Given the description of an element on the screen output the (x, y) to click on. 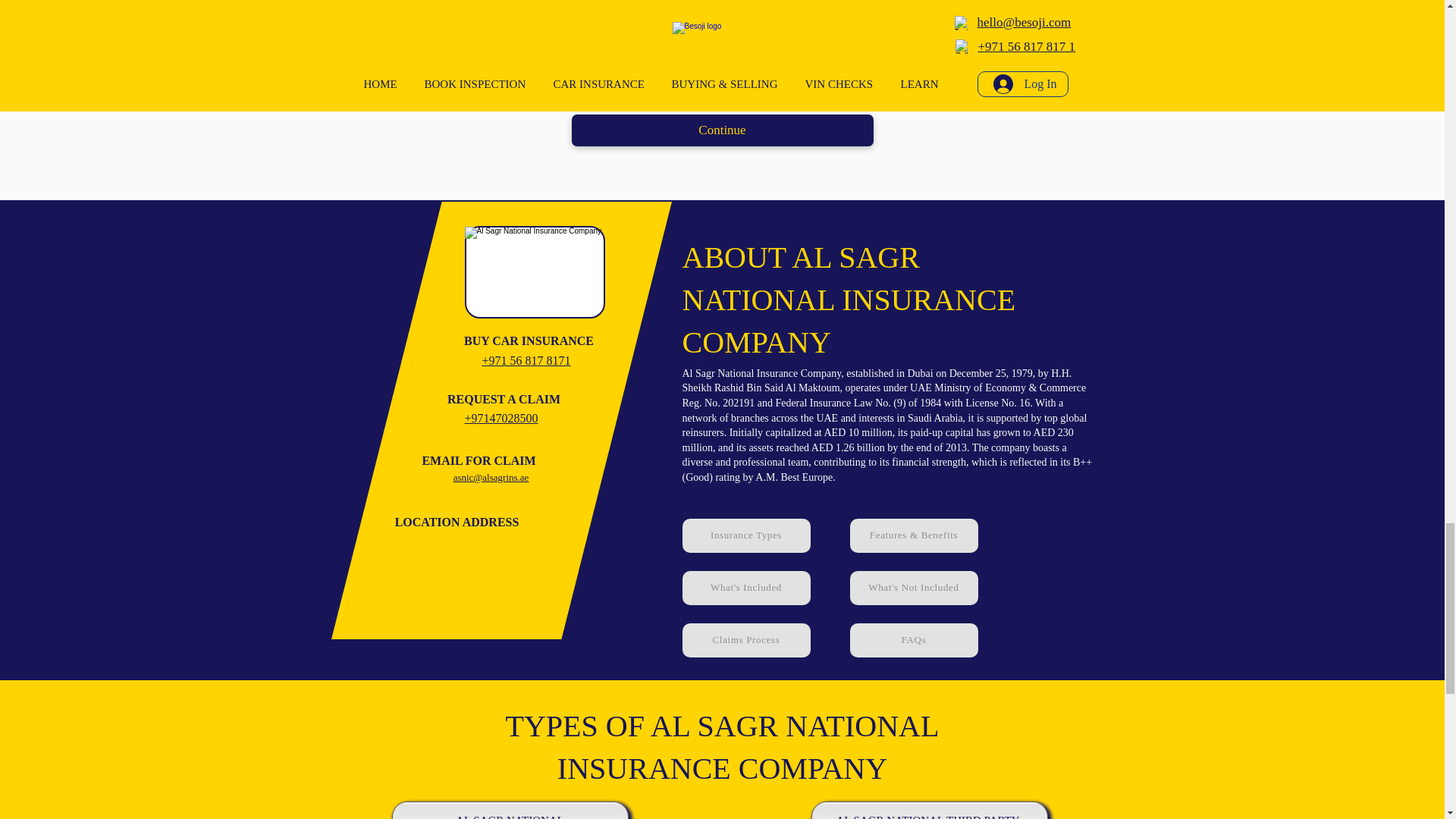
Insurance Types (746, 535)
5.png (534, 272)
What's Not Included (912, 587)
What's Included (746, 587)
FAQs (912, 640)
Claims Process (746, 640)
Continue (722, 130)
